Given the description of an element on the screen output the (x, y) to click on. 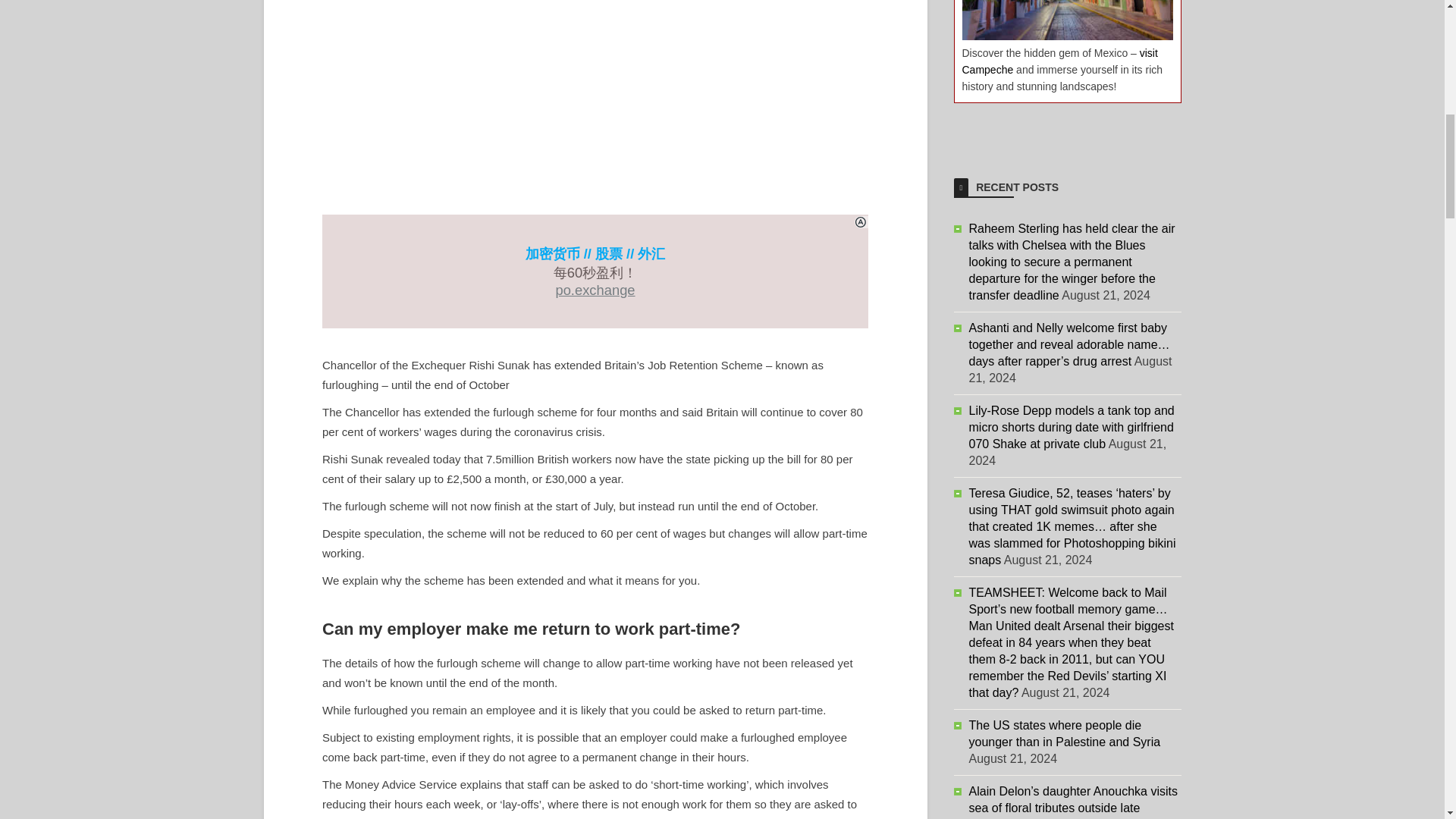
visit Campeche (1058, 61)
